Given the description of an element on the screen output the (x, y) to click on. 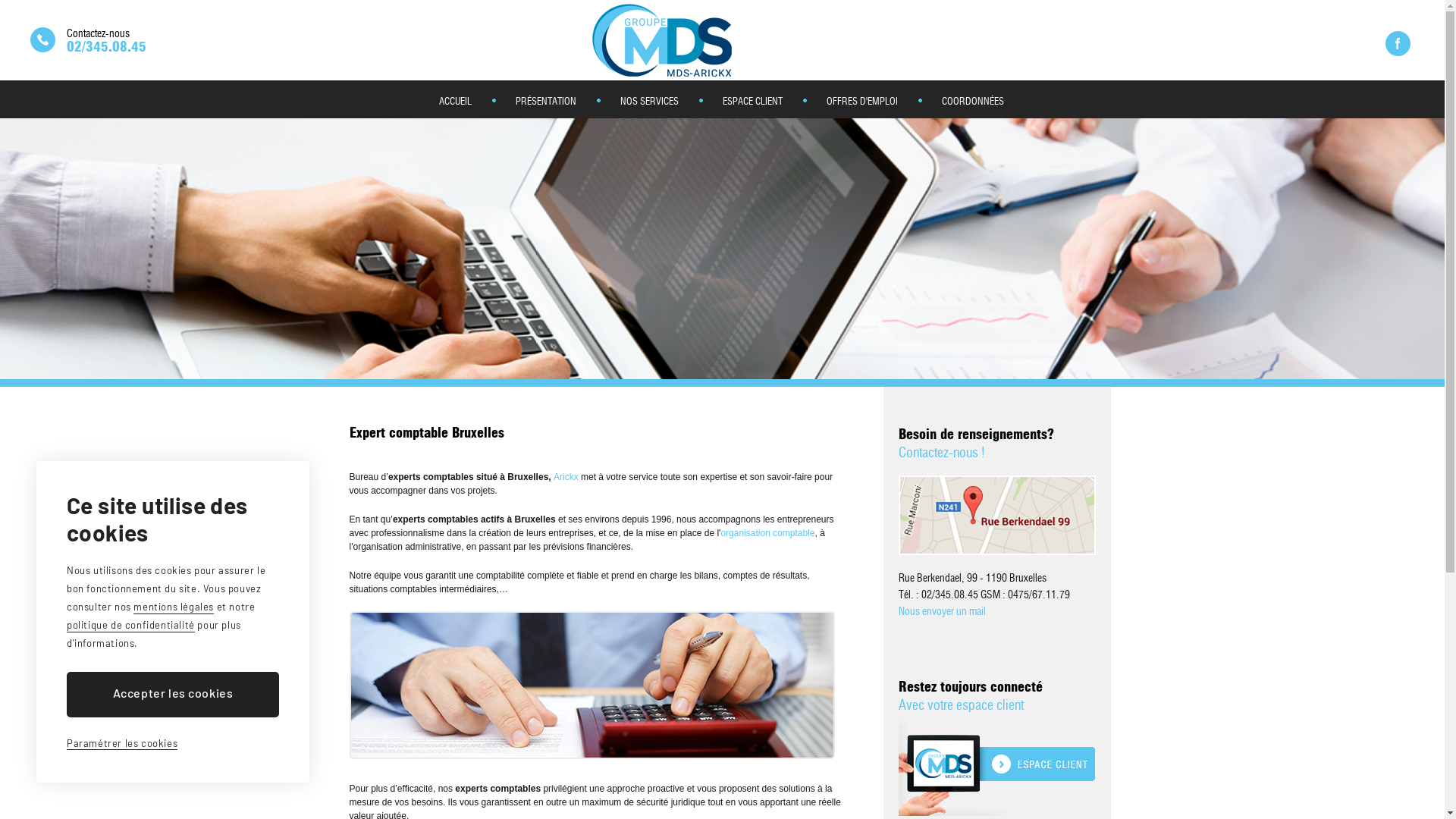
Nous contacter Element type: text (42, 39)
ESPACE CLIENT Element type: text (750, 99)
OFFRES D'EMPLOI Element type: text (859, 99)
Nous envoyer un mail Element type: text (941, 611)
Arickx Element type: text (722, 40)
Rejoignez notre page Facebook Element type: text (1397, 43)
organisation comptable Element type: text (767, 532)
ACCUEIL Element type: text (453, 99)
NOS SERVICES Element type: text (646, 99)
Arickx Element type: text (566, 476)
